Given the description of an element on the screen output the (x, y) to click on. 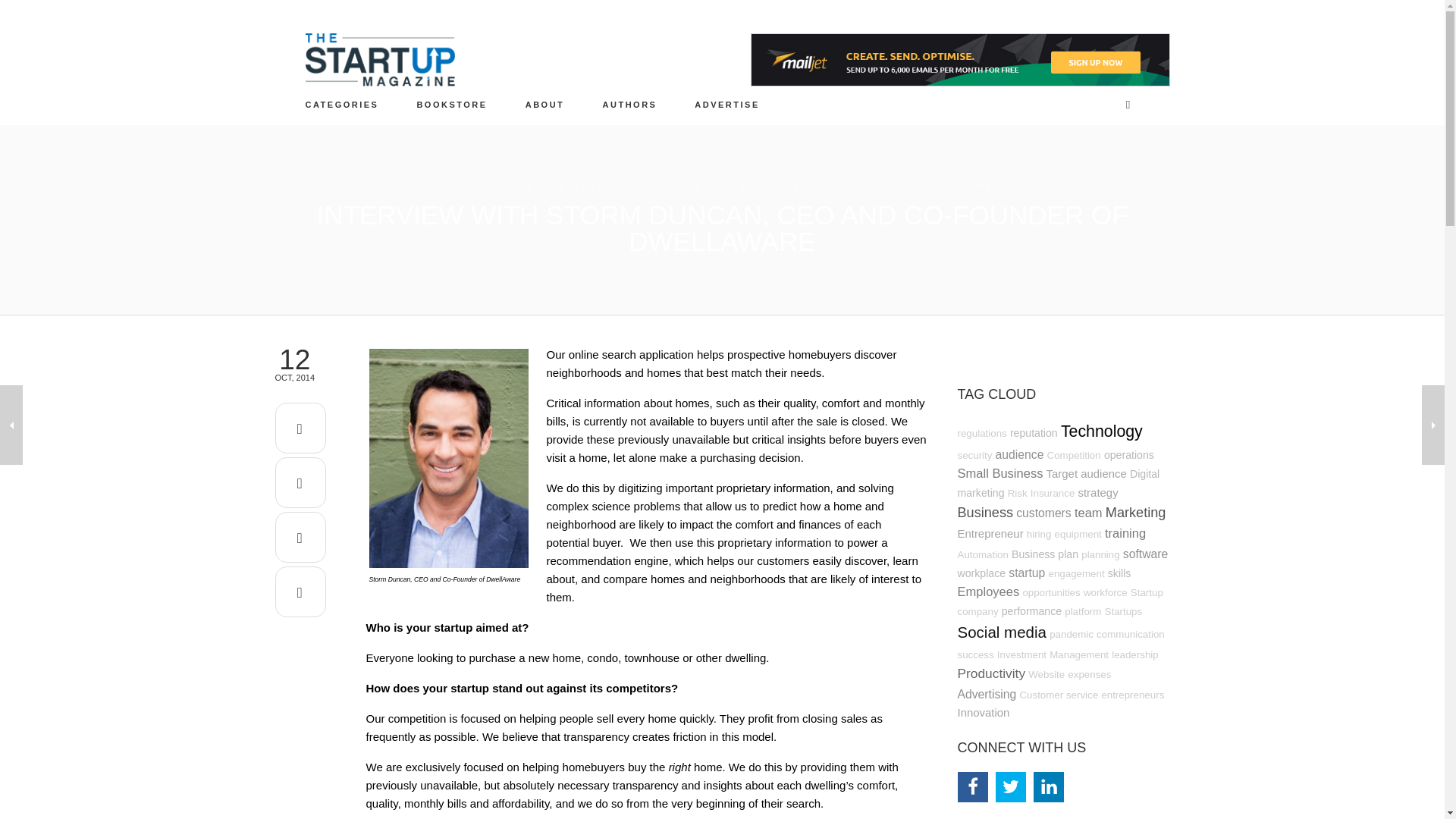
192 topics (981, 432)
267 topics (1086, 472)
176 topics (1073, 455)
ADVERTISE (727, 103)
211 topics (1034, 432)
CATEGORIES (341, 103)
186 topics (1052, 492)
239 topics (1057, 482)
AUTHORS (630, 103)
Welcome to The Startup Magazine (544, 103)
